Given the description of an element on the screen output the (x, y) to click on. 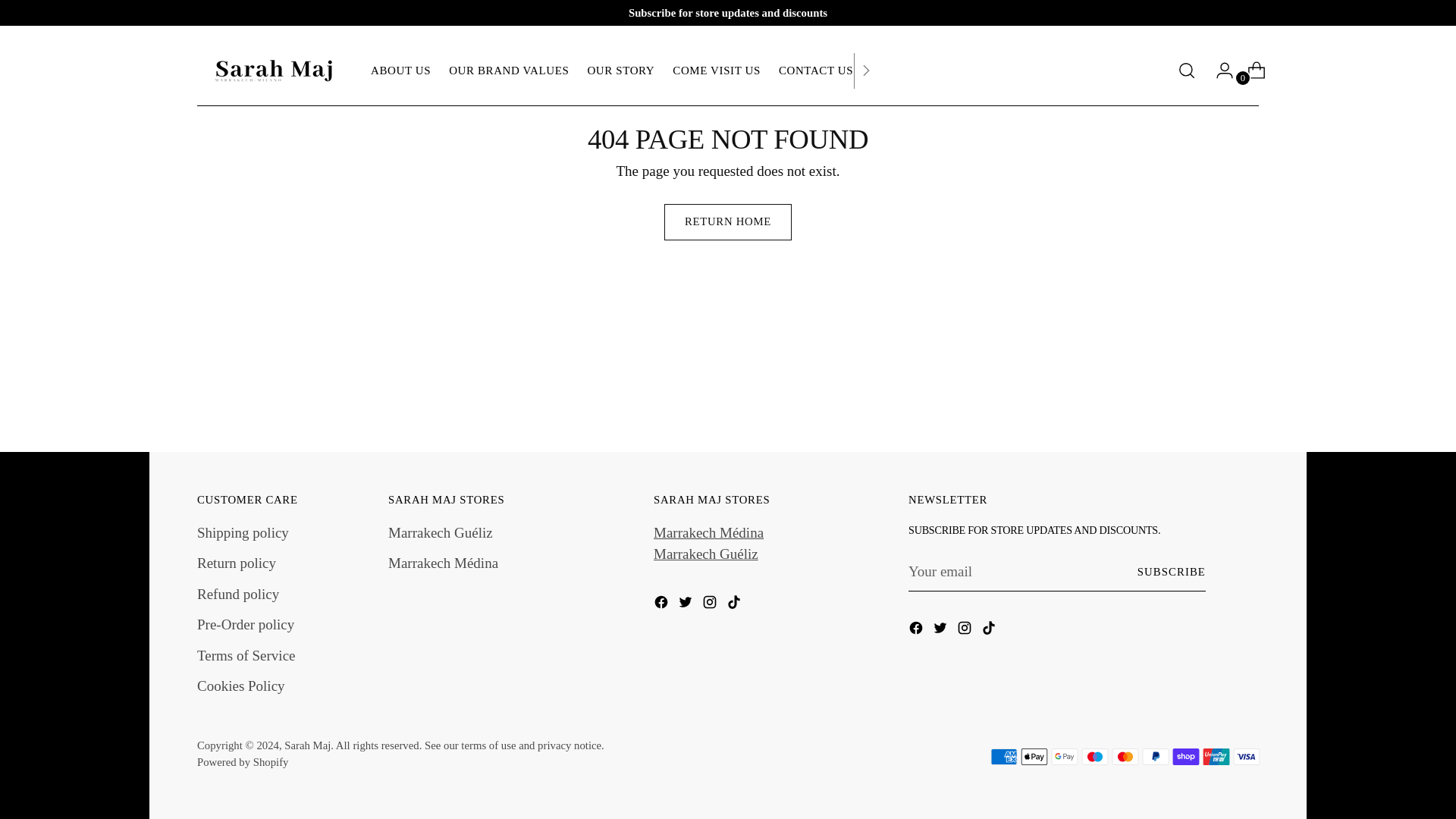
Subscribe for store updates and discounts (727, 12)
OUR STORY (623, 70)
0 (619, 70)
OUR BRAND VALUES (1249, 70)
CONTACT US (508, 70)
ABOUT US (815, 70)
COME VISIT US (400, 70)
